Given the description of an element on the screen output the (x, y) to click on. 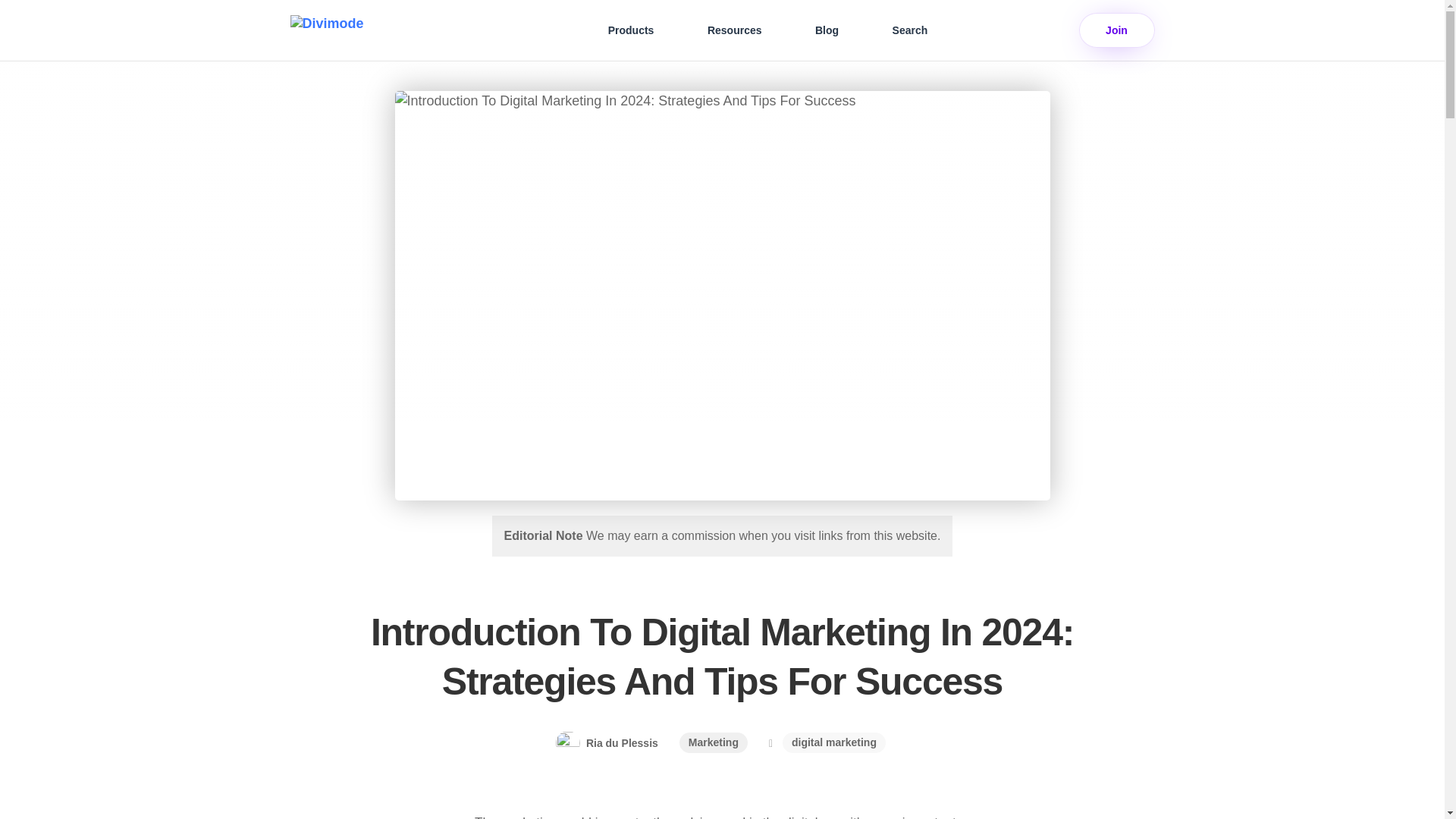
Blog (827, 30)
Posts by Ria du Plessis (607, 743)
Join (1116, 30)
Search (908, 30)
Resources (735, 30)
Ria du Plessis (607, 743)
Products (629, 30)
digital marketing (834, 742)
Marketing (713, 742)
